Given the description of an element on the screen output the (x, y) to click on. 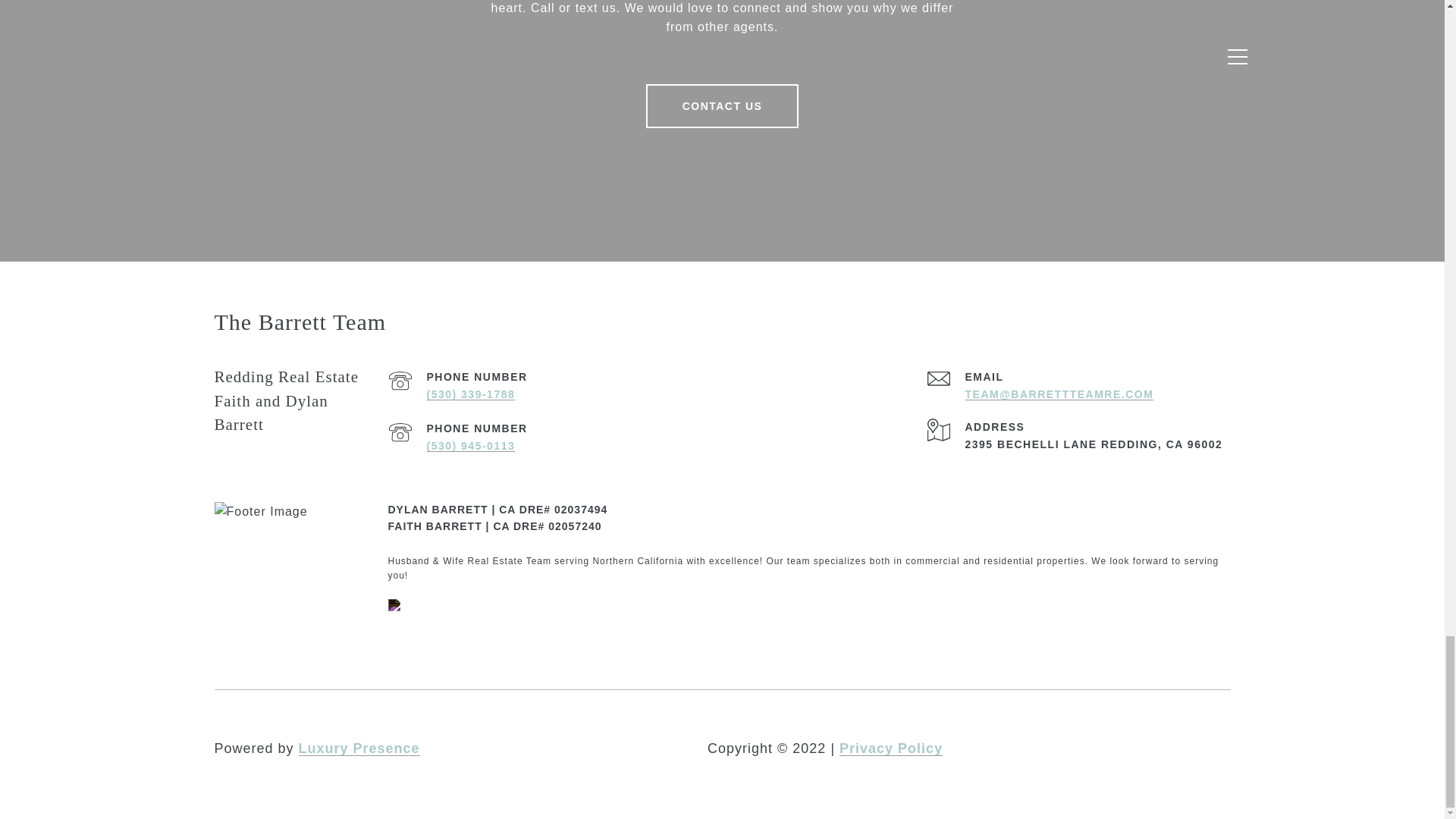
Luxury Presence (359, 748)
CONTACT US (722, 105)
